Given the description of an element on the screen output the (x, y) to click on. 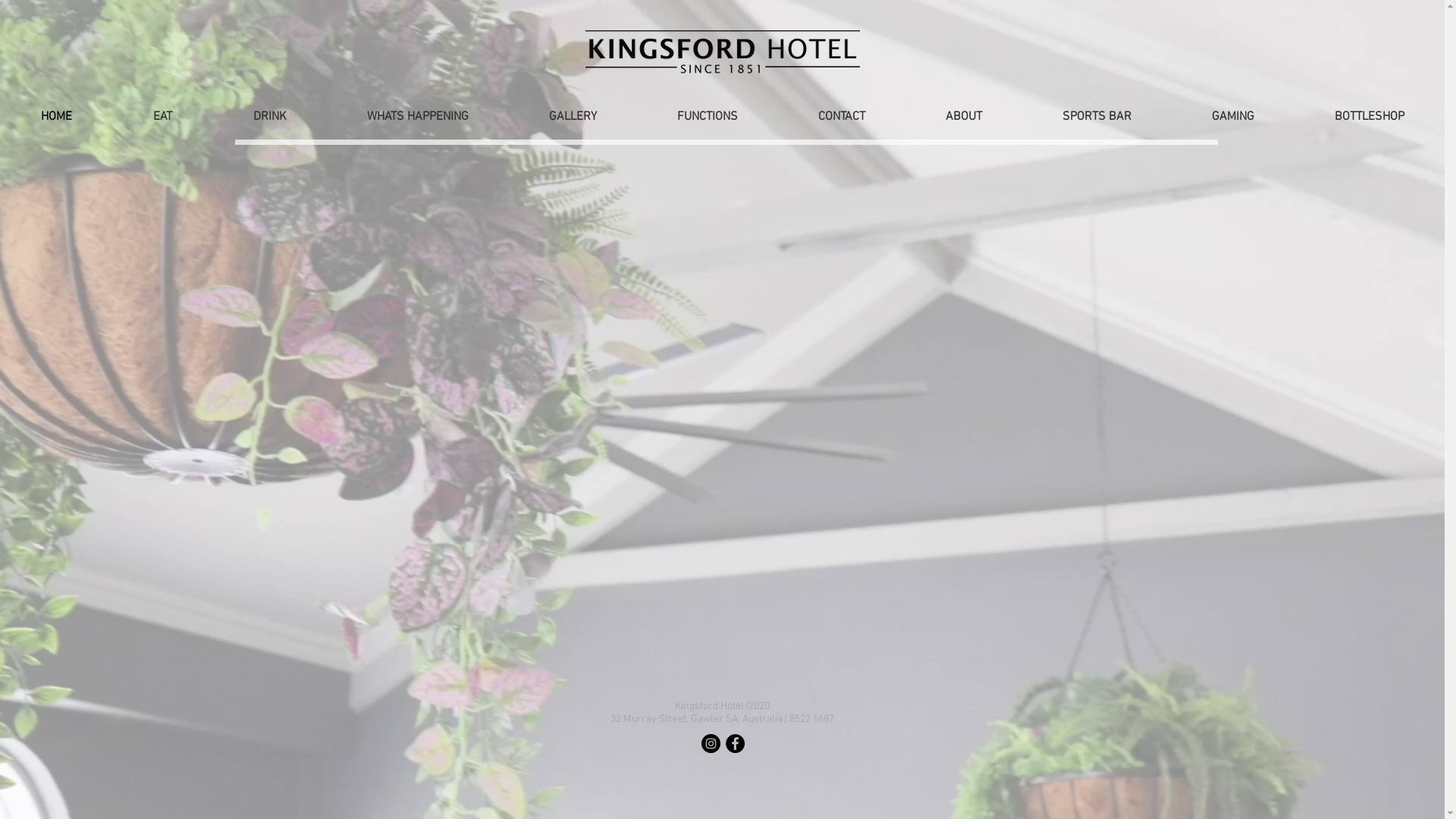
DRINK Element type: text (269, 116)
GALLERY Element type: text (572, 116)
HOME Element type: text (56, 116)
EAT Element type: text (162, 116)
GAMING Element type: text (1232, 116)
FUNCTIONS Element type: text (707, 116)
CONTACT Element type: text (841, 116)
WHATS HAPPENING Element type: text (417, 116)
SPORTS BAR Element type: text (1096, 116)
ABOUT Element type: text (963, 116)
BOTTLESHOP Element type: text (1369, 116)
